Given the description of an element on the screen output the (x, y) to click on. 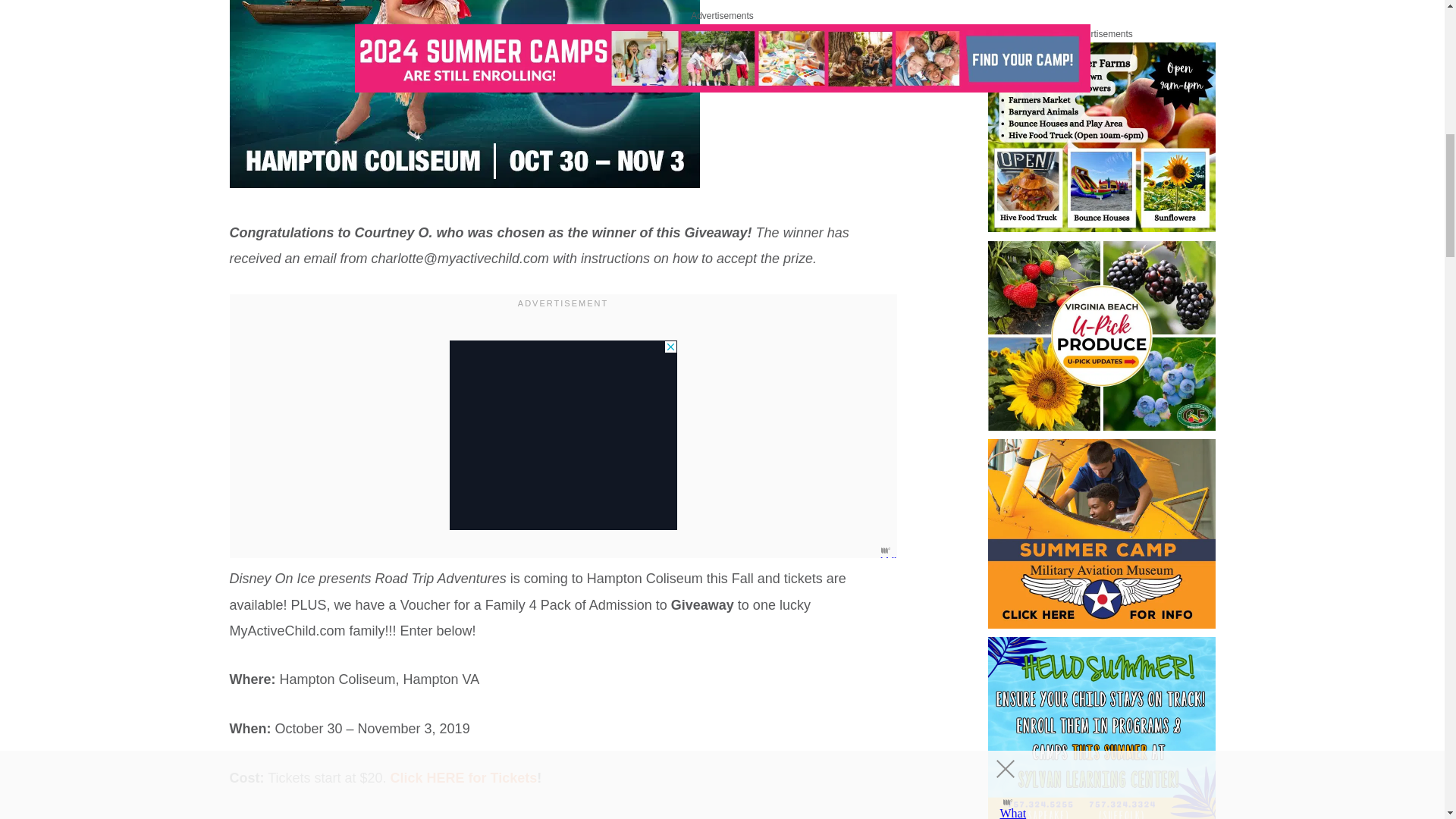
3rd party ad content (562, 434)
